Given the description of an element on the screen output the (x, y) to click on. 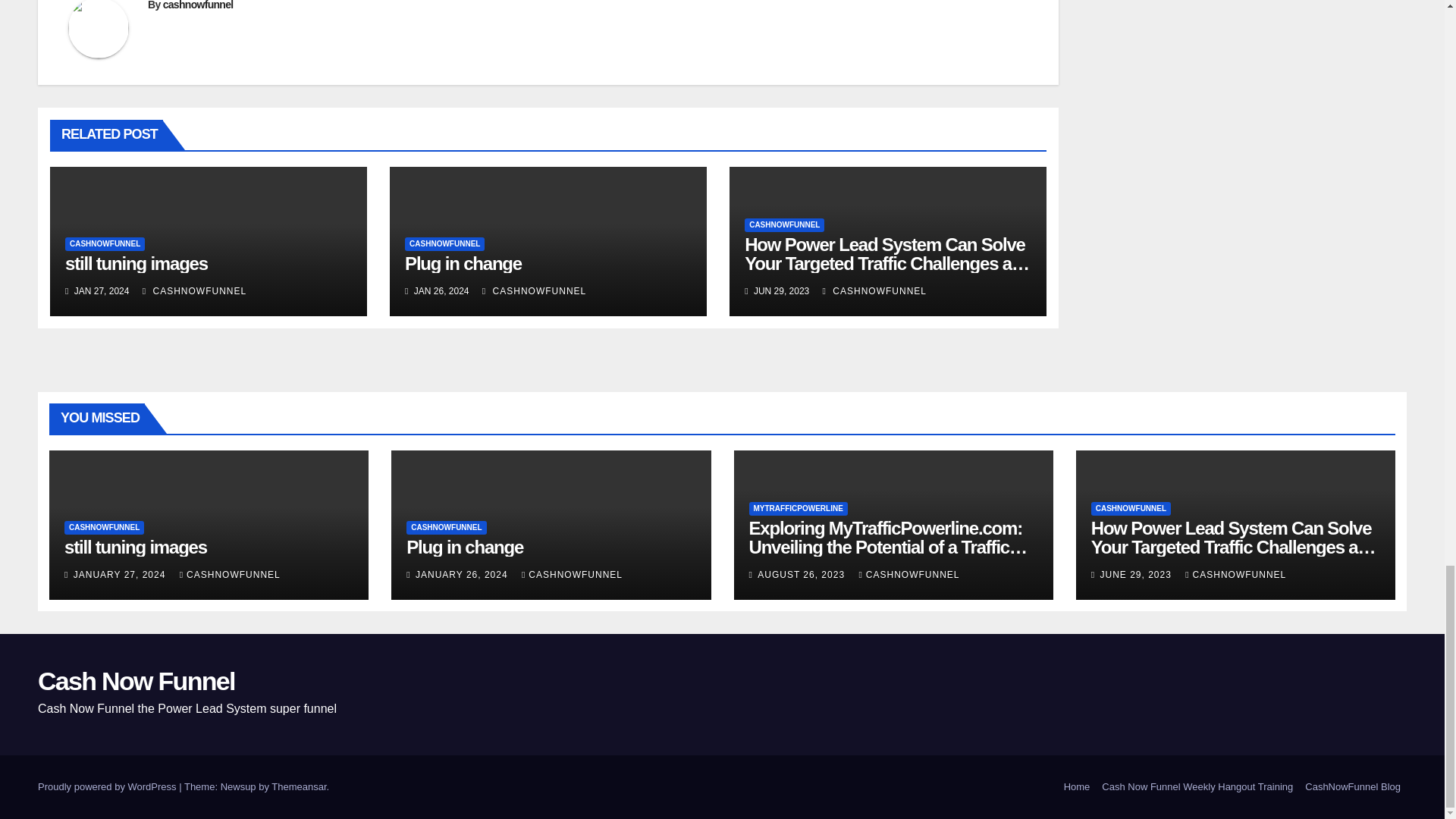
Permalink to: still tuning images (135, 547)
Permalink to: Plug in change (462, 263)
Home (1077, 786)
Permalink to: still tuning images (136, 263)
Permalink to: Plug in change (464, 547)
